Given the description of an element on the screen output the (x, y) to click on. 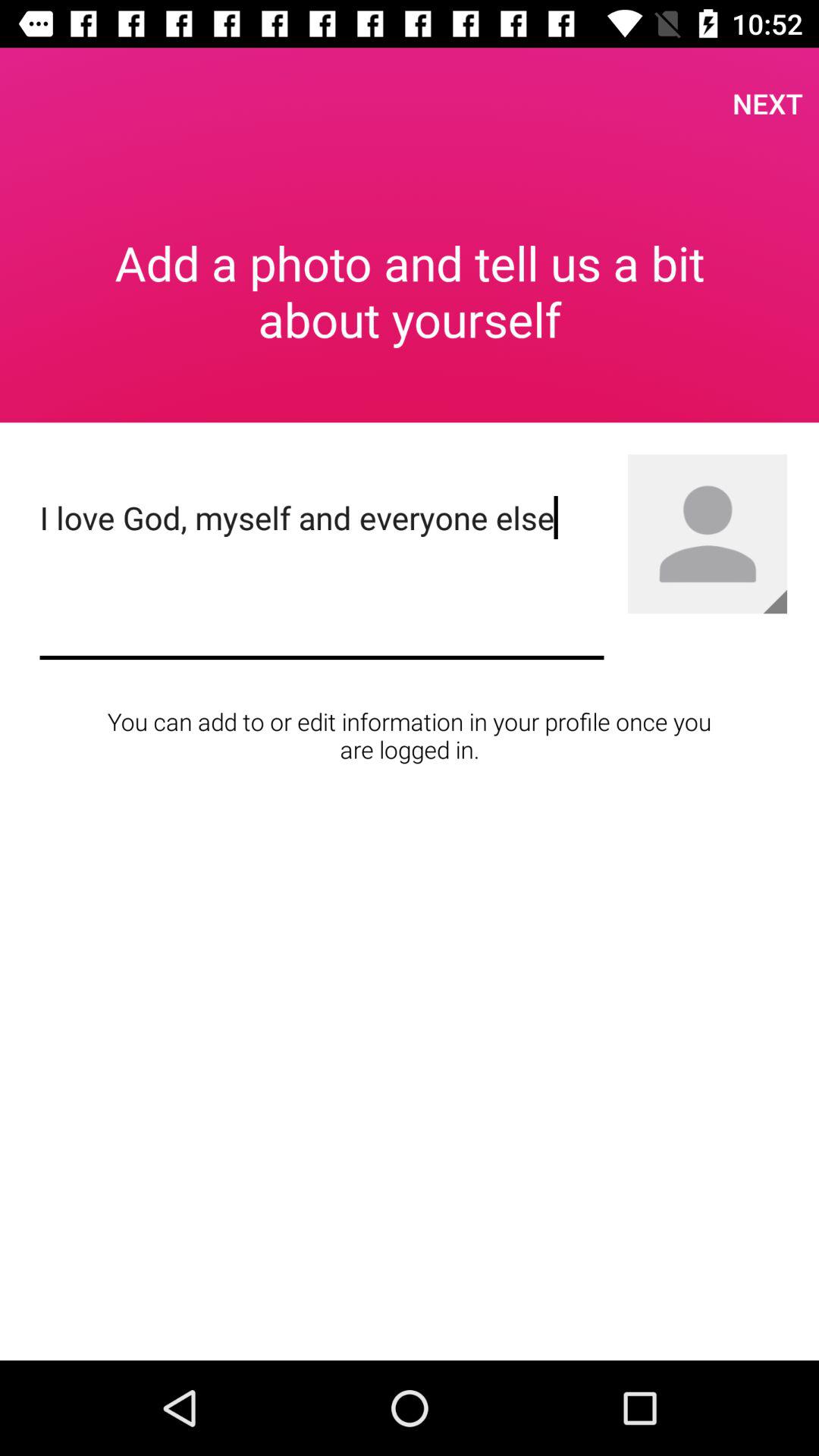
swipe until next item (767, 103)
